Given the description of an element on the screen output the (x, y) to click on. 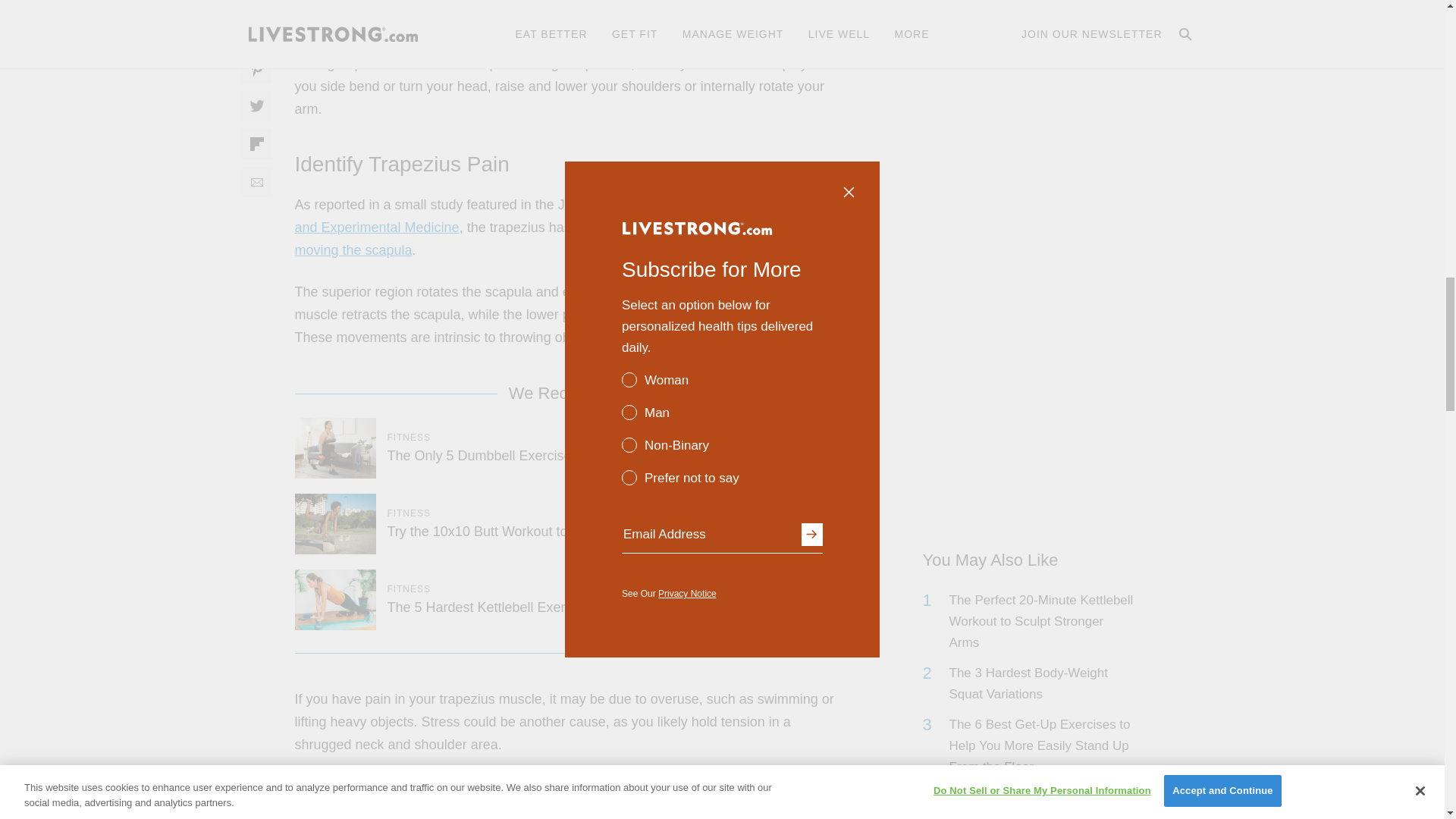
Advances in Clinical and Experimental Medicine (567, 216)
The 3 Hardest Body-Weight Squat Variations (1042, 683)
stabilizing and moving the scapula (546, 238)
Try the 10x10 Butt Workout to Sculpt Your Glutes in Minutes (568, 531)
The Only 5 Dumbbell Exercises You Need for a Stronger Butt (571, 455)
The 5 Hardest Kettlebell Exercises for Sculpted Abs (542, 607)
The Best Upper Body Exercises for Better Posture (520, 785)
